Given the description of an element on the screen output the (x, y) to click on. 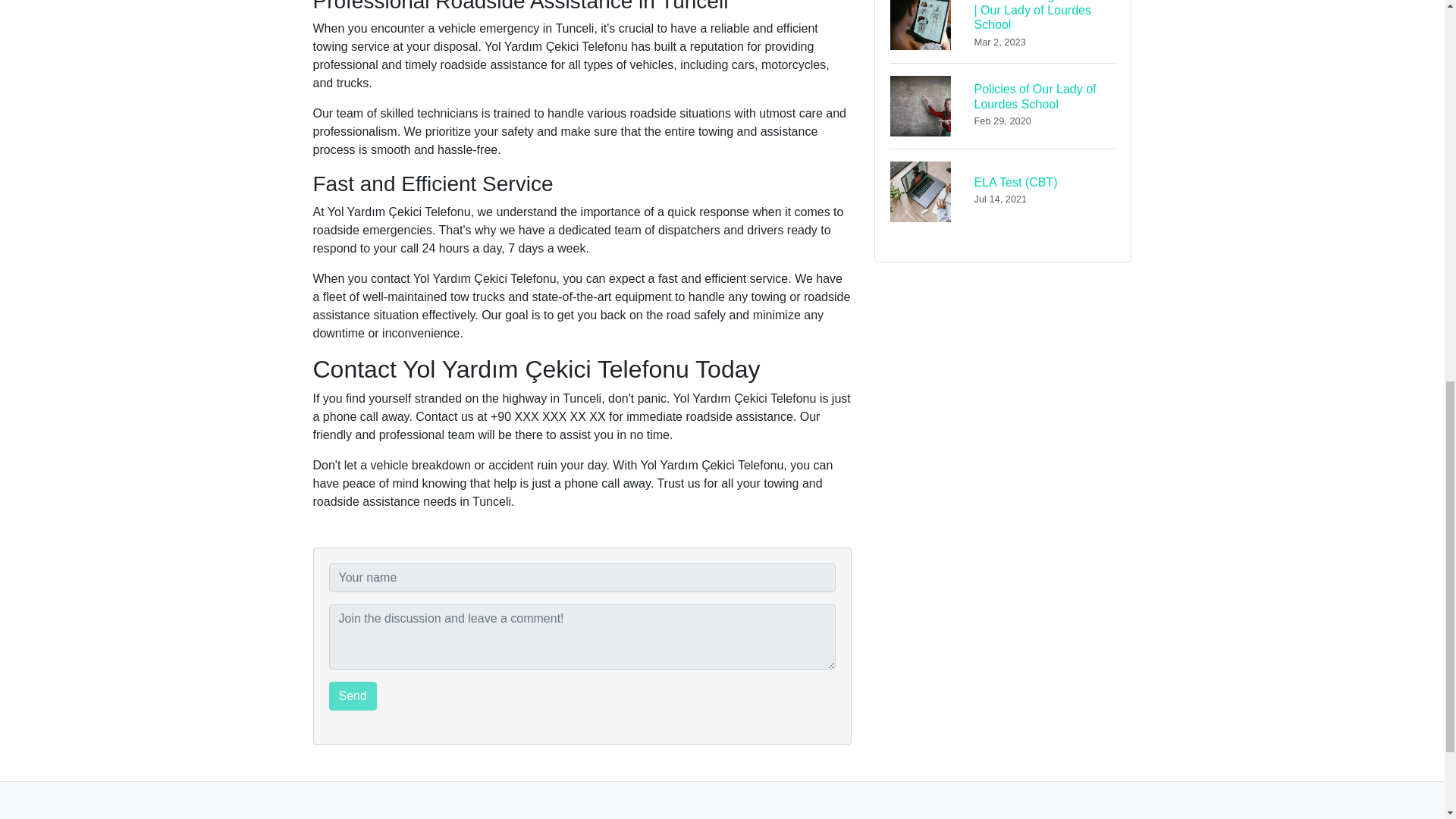
Privacy policy (1002, 105)
Send (353, 695)
